Given the description of an element on the screen output the (x, y) to click on. 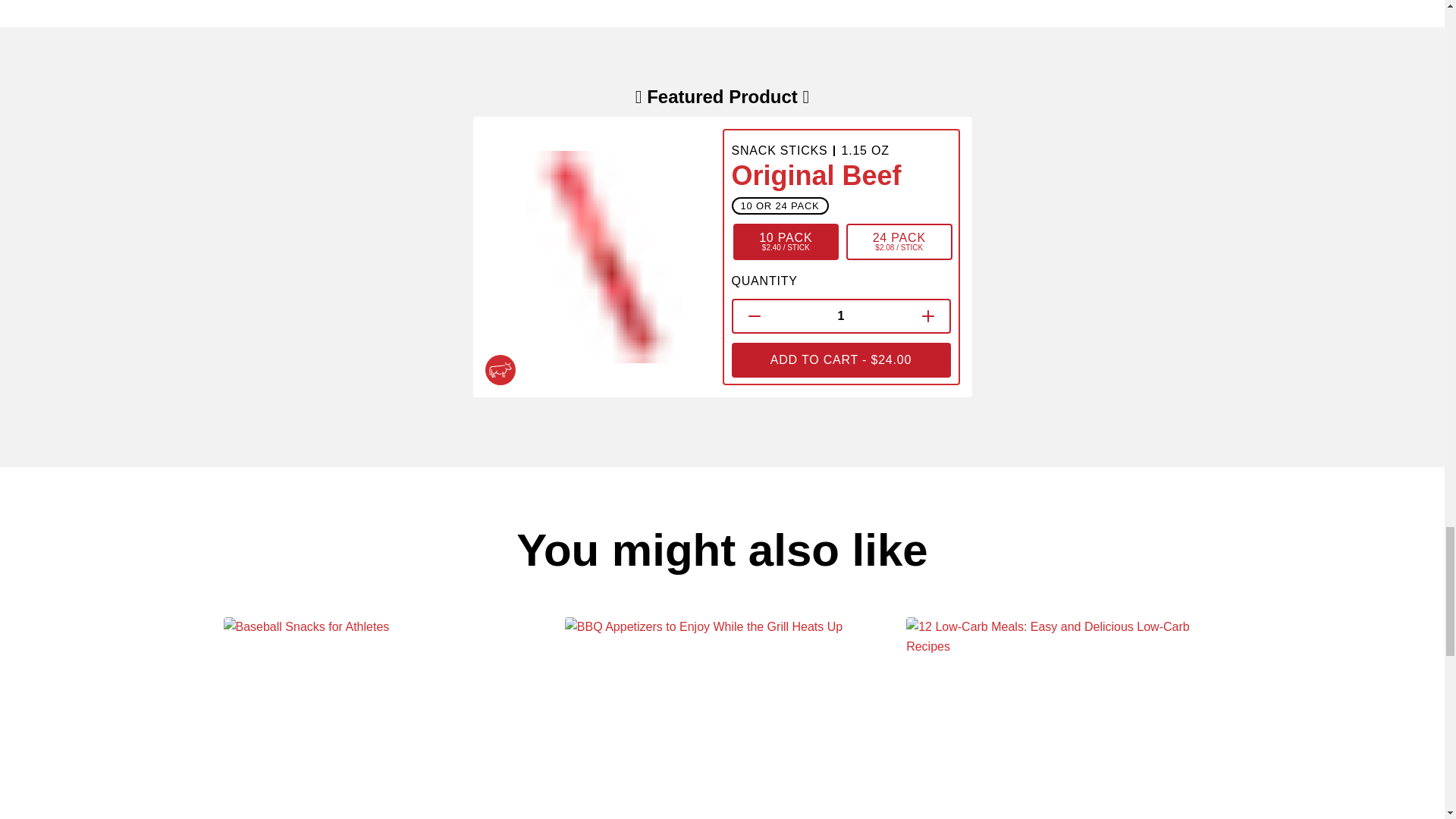
1 (840, 315)
